Given the description of an element on the screen output the (x, y) to click on. 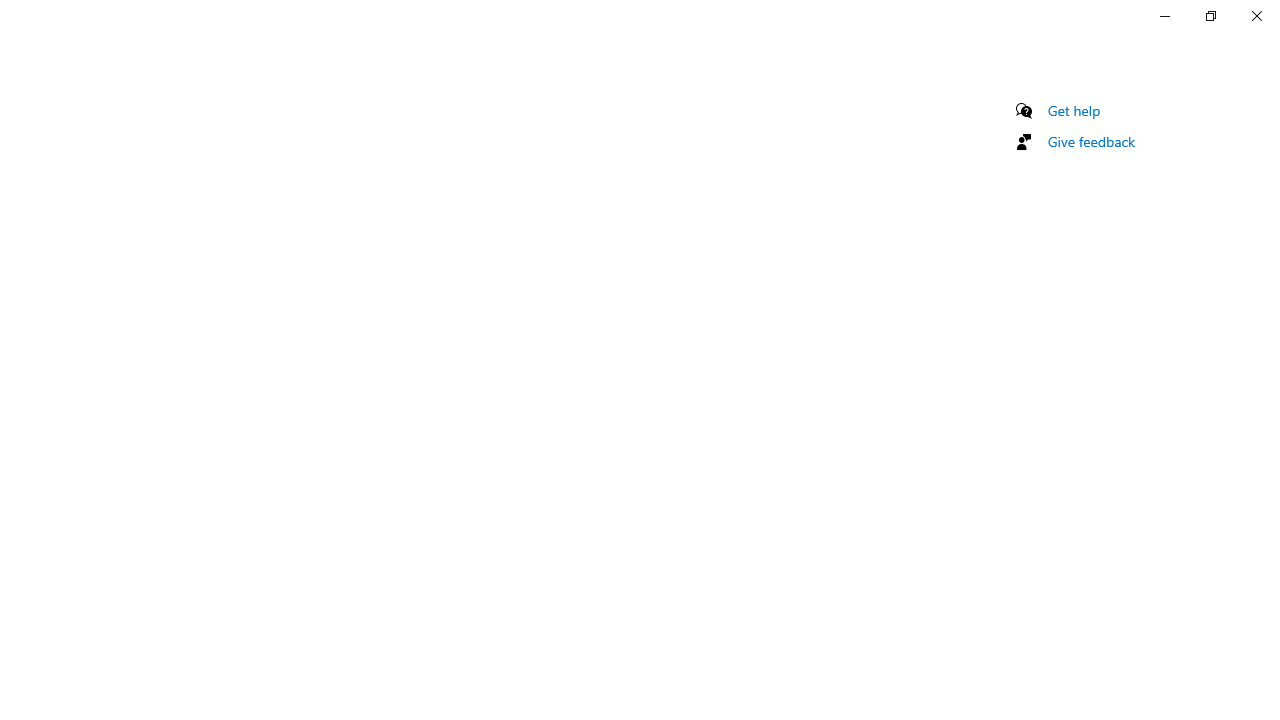
Get help (1074, 110)
Minimize Settings (1164, 15)
Close Settings (1256, 15)
Restore Settings (1210, 15)
Give feedback (1091, 141)
